Given the description of an element on the screen output the (x, y) to click on. 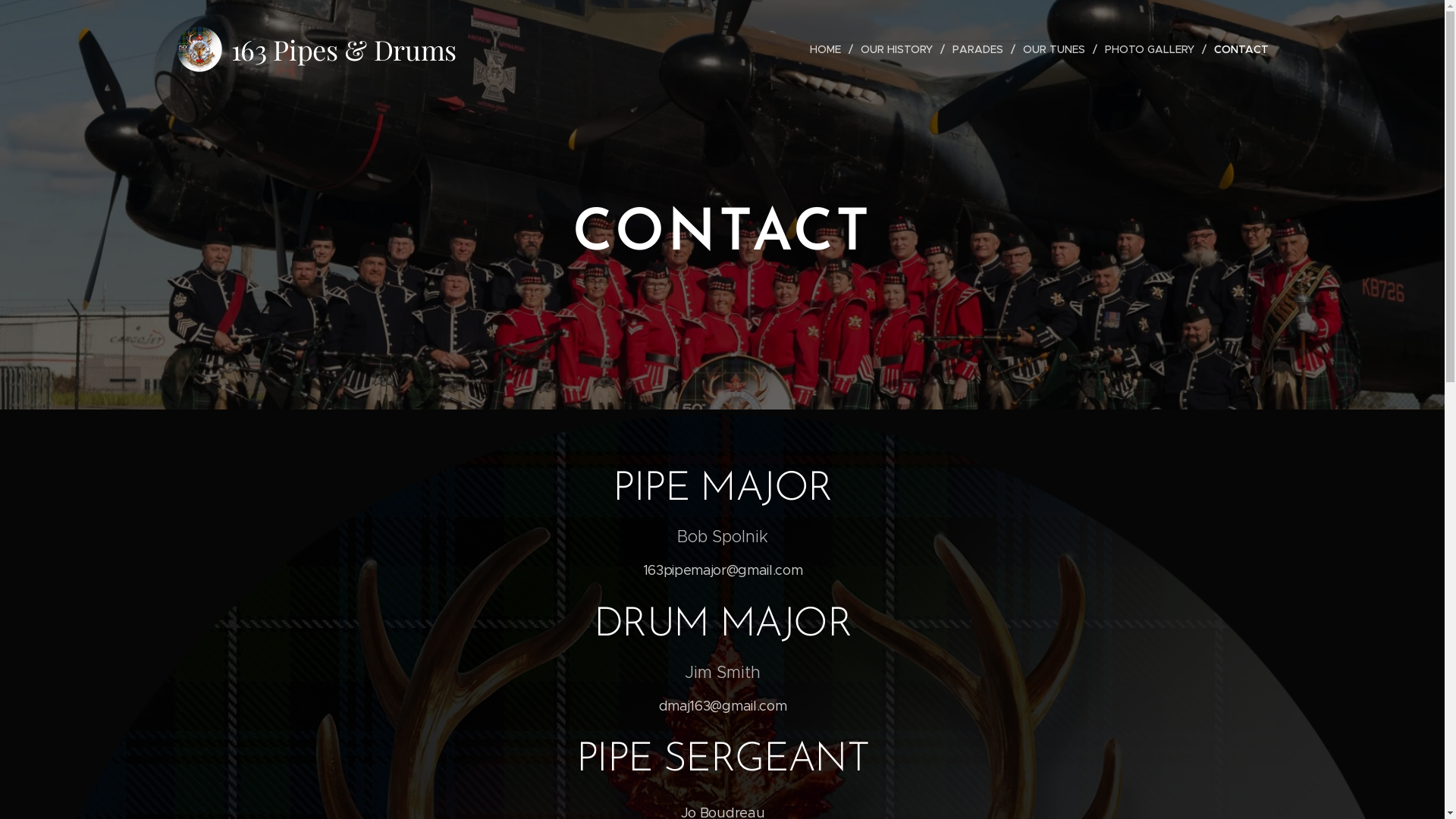
PHOTO GALLERY Element type: text (1150, 49)
OUR TUNES Element type: text (1055, 49)
CONTACT Element type: text (1236, 49)
163 Pipes & Drums Element type: text (318, 49)
OUR HISTORY Element type: text (898, 49)
PARADES Element type: text (979, 49)
HOME Element type: text (828, 49)
